Given the description of an element on the screen output the (x, y) to click on. 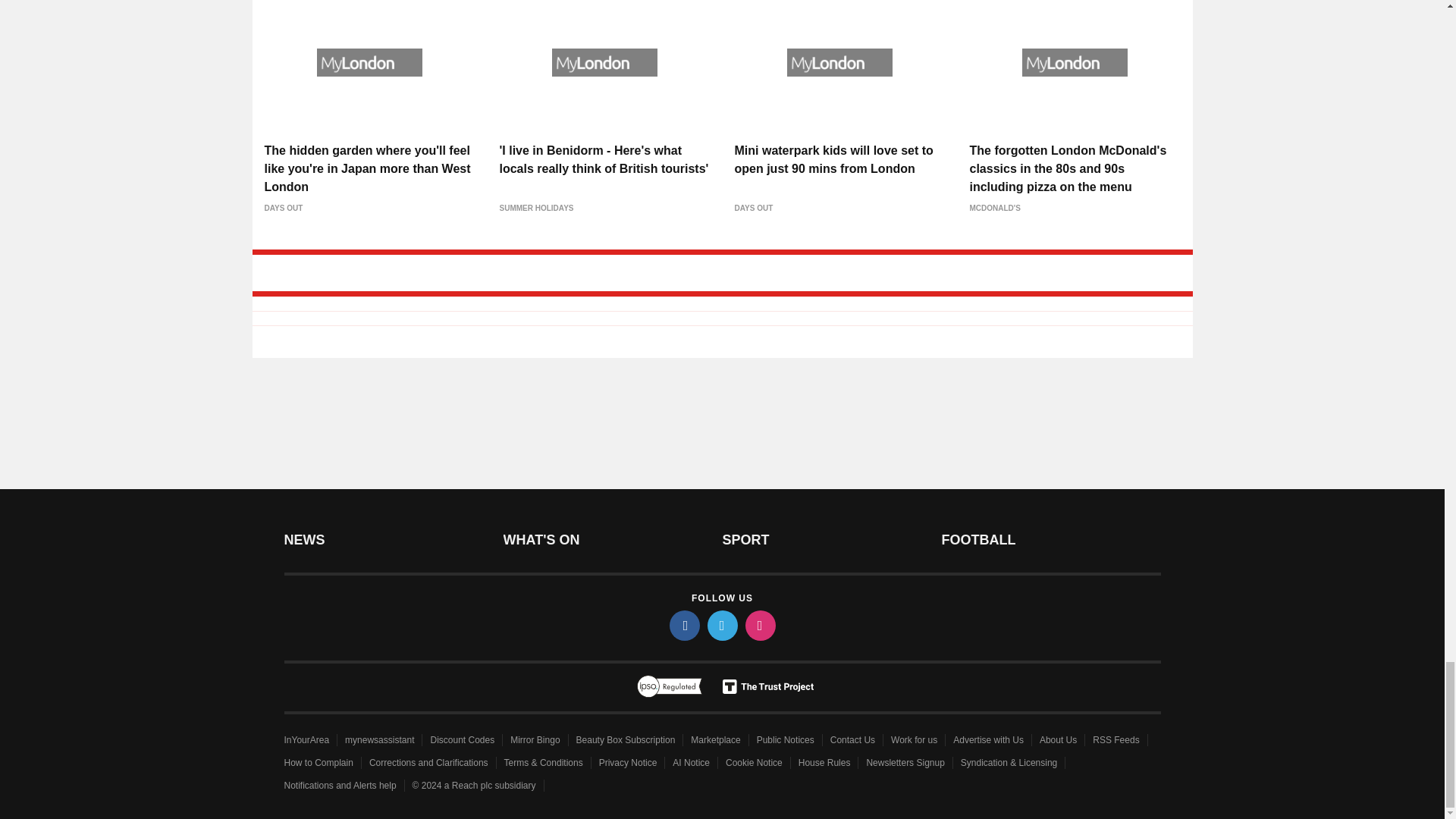
instagram (759, 625)
twitter (721, 625)
facebook (683, 625)
